Given the description of an element on the screen output the (x, y) to click on. 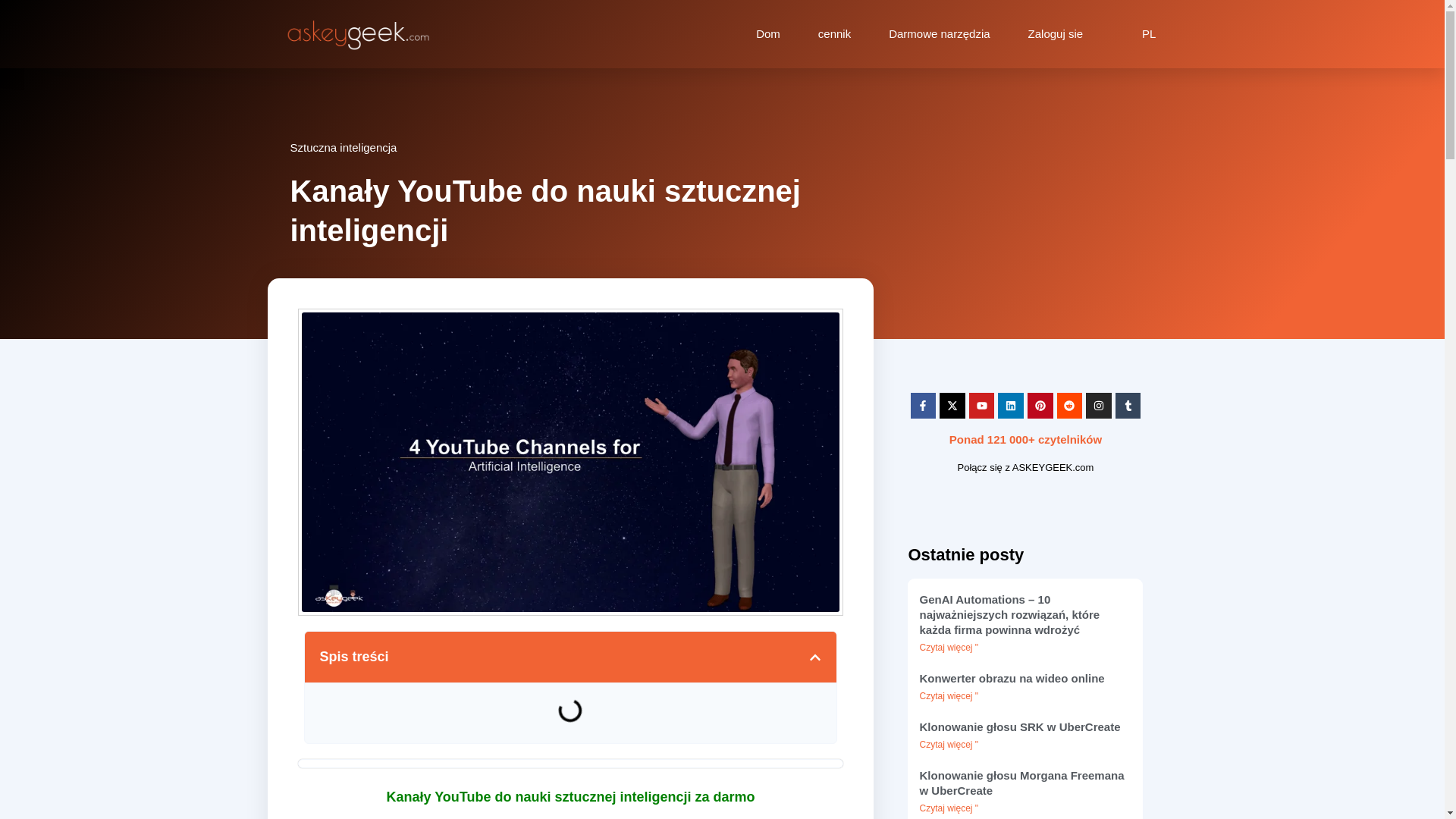
Sztuczna inteligencja (342, 146)
